Given the description of an element on the screen output the (x, y) to click on. 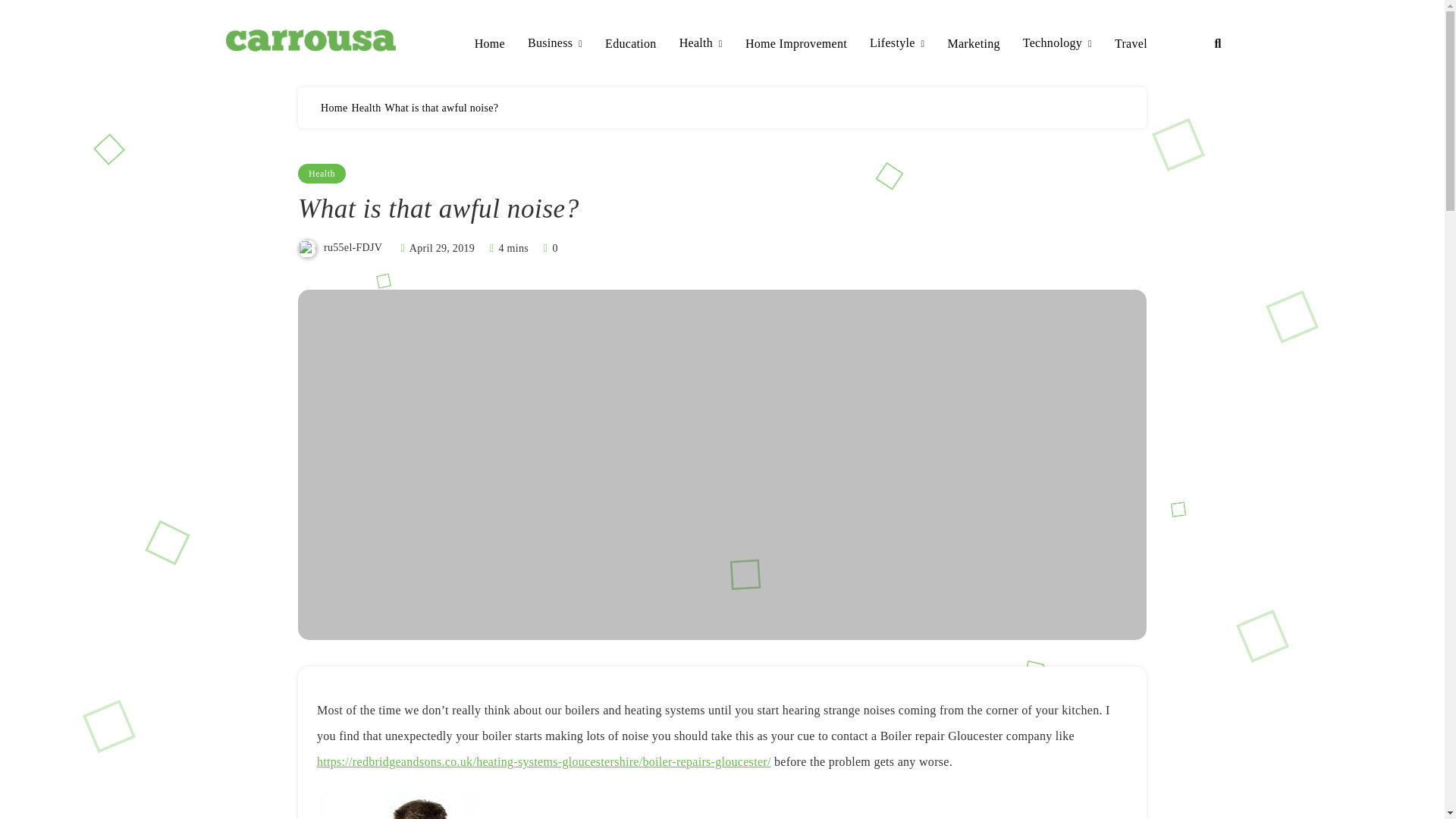
Lifestyle (896, 43)
0 (548, 247)
Health (322, 173)
Home (489, 44)
Home (333, 107)
Business (554, 43)
Health (700, 43)
Home Improvement (796, 44)
Education (630, 44)
April 29, 2019 (441, 247)
